Given the description of an element on the screen output the (x, y) to click on. 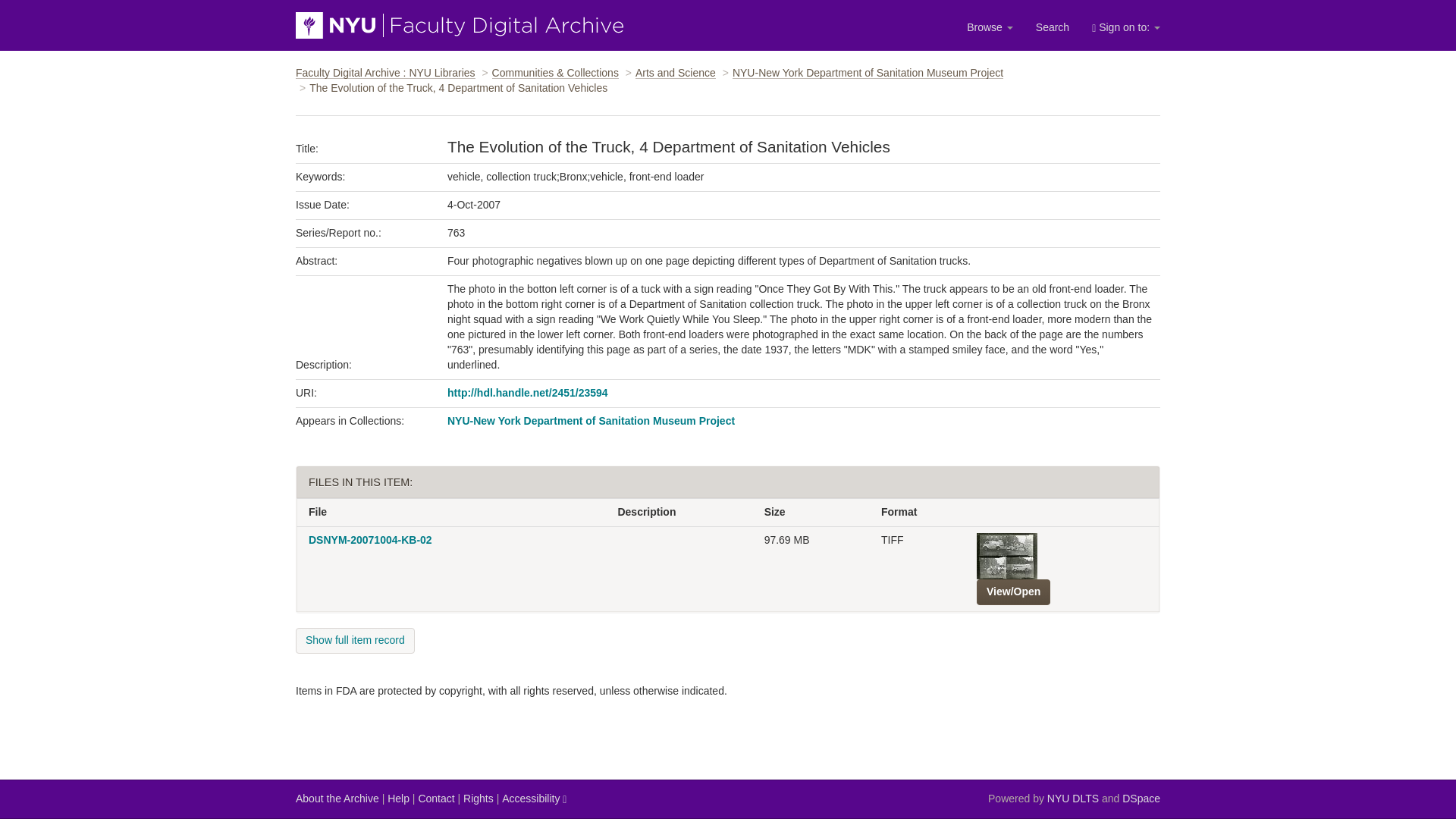
NYU DLTS (1072, 798)
Arts and Science (675, 72)
Sign on to: (1126, 26)
Faculty Digital Archive : NYU Libraries (385, 72)
NYU-New York Department of Sanitation Museum Project (867, 72)
DSNYM-20071004-KB-02 (370, 539)
Rights (478, 798)
Help (398, 798)
NYU-New York Department of Sanitation Museum Project (590, 420)
Search (1052, 26)
About the Archive (336, 798)
DSpace (1141, 798)
Show full item record (354, 640)
Browse (990, 26)
Contact (435, 798)
